Given the description of an element on the screen output the (x, y) to click on. 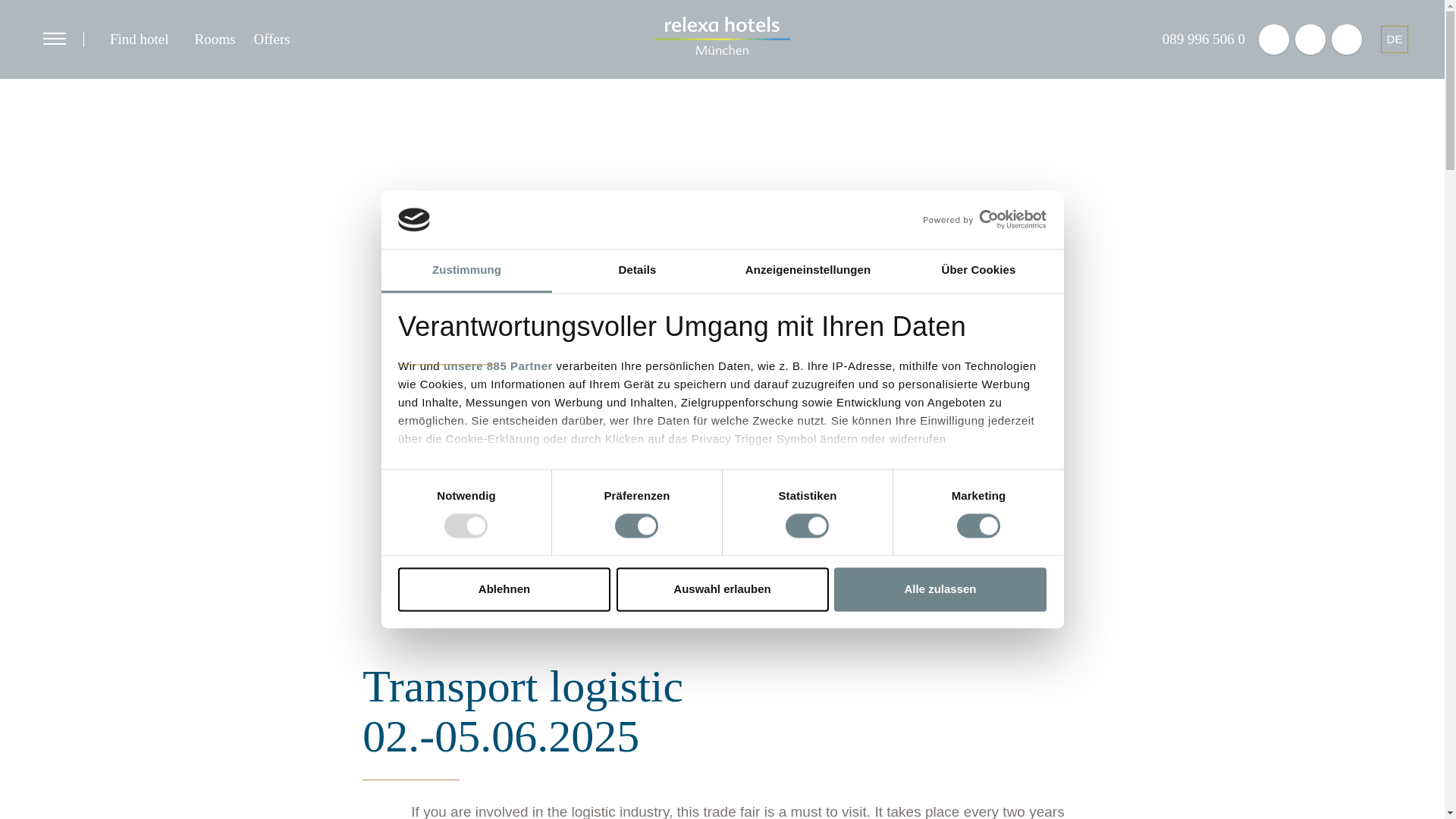
Details (636, 270)
unsere 885 Partner (498, 365)
Zustimmung (465, 270)
Anzeigeneinstellungen (807, 270)
Abschnitt Einzelheiten (462, 553)
